Given the description of an element on the screen output the (x, y) to click on. 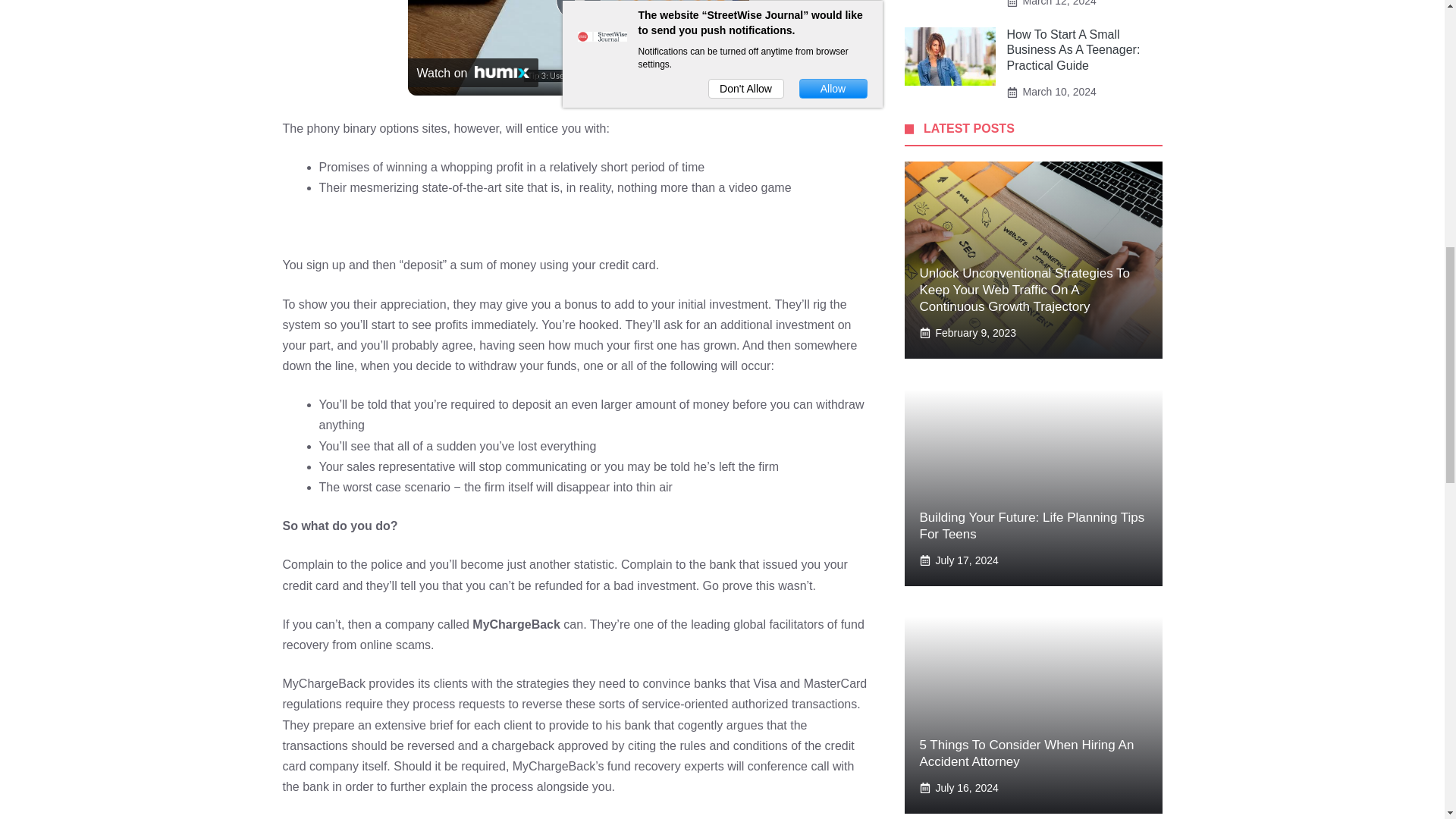
Play Video (576, 11)
Play Video (576, 11)
Scroll back to top (1406, 720)
Watch on (472, 72)
